Given the description of an element on the screen output the (x, y) to click on. 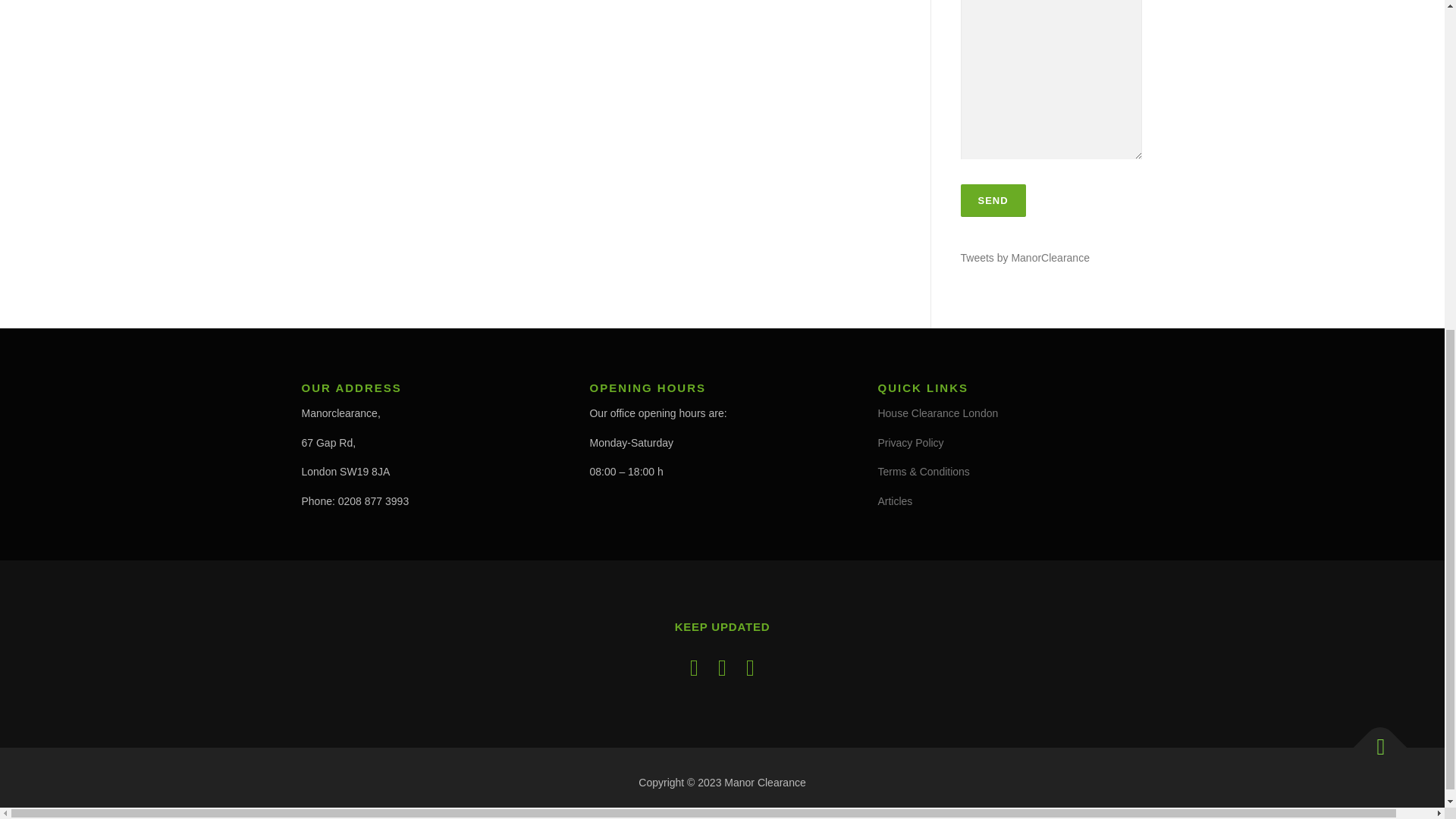
Privacy Policy (910, 442)
House Clearance London (937, 413)
Articles (894, 500)
Send (992, 200)
Back To Top (1372, 740)
Tweets by ManorClearance (1024, 257)
Send (992, 200)
